Given the description of an element on the screen output the (x, y) to click on. 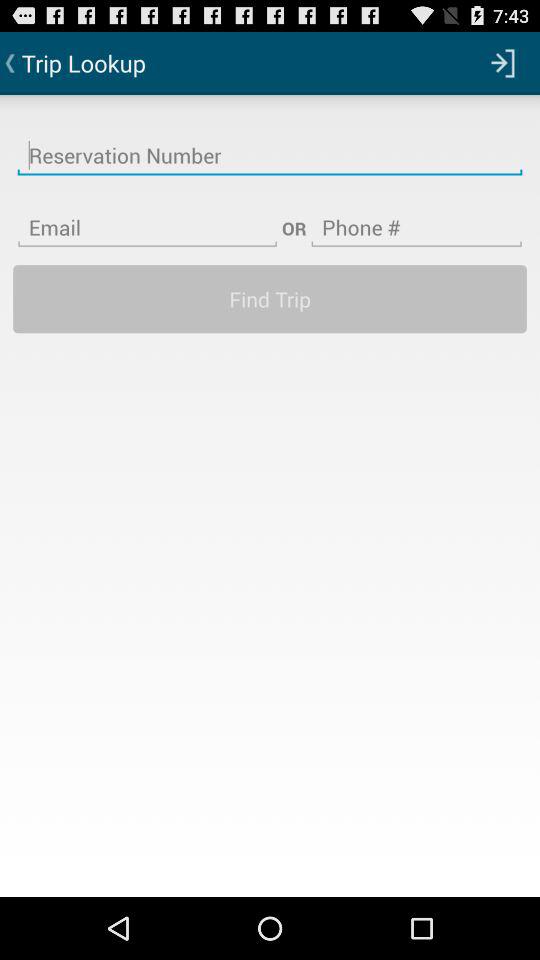
enter reservation number (269, 143)
